Given the description of an element on the screen output the (x, y) to click on. 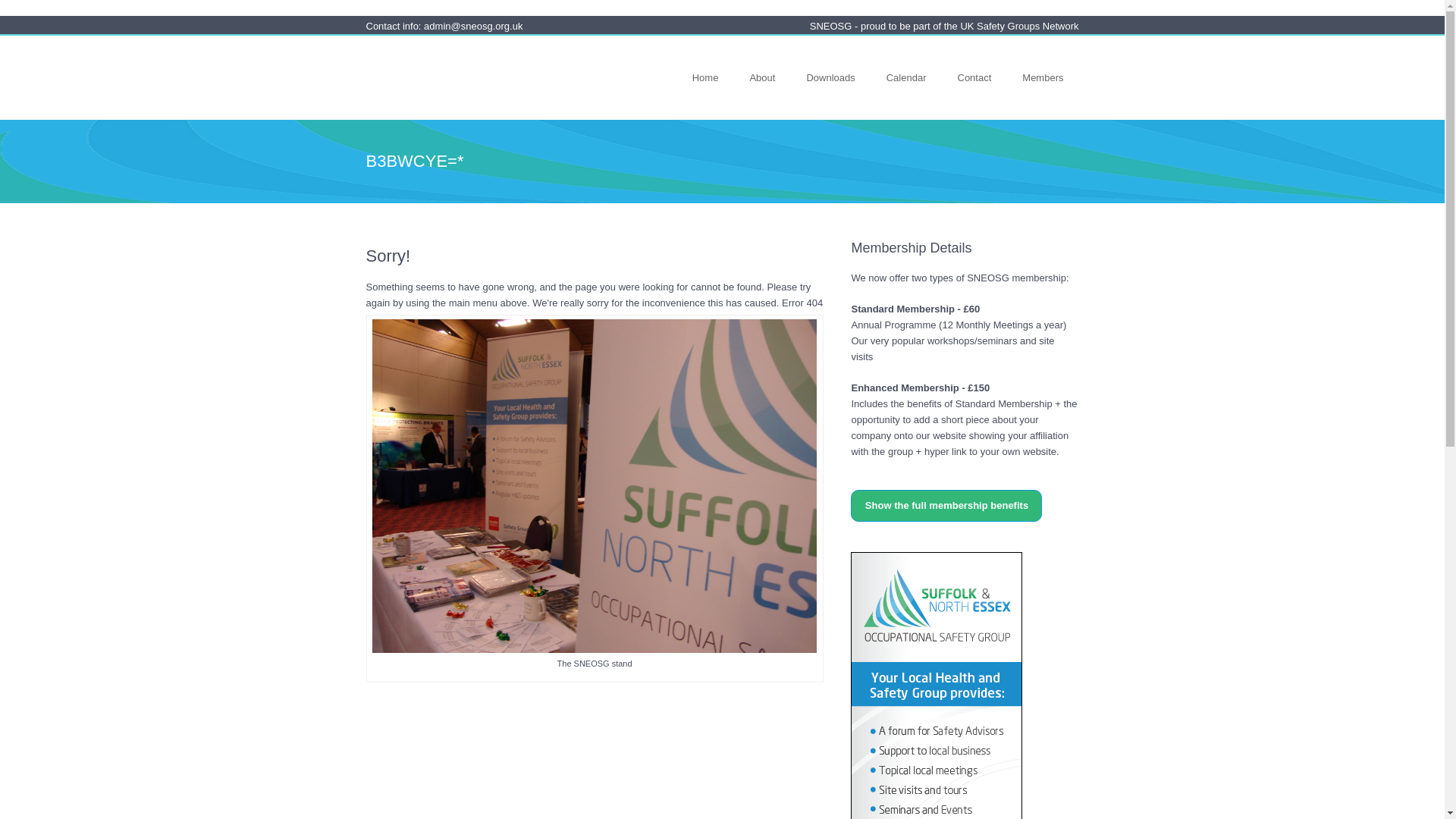
UK Safety Groups Network (1018, 25)
Contact (974, 77)
Home (705, 77)
Members (1042, 77)
About (761, 77)
Show the full membership benefits (946, 505)
Calendar (906, 77)
Downloads (829, 77)
